Given the description of an element on the screen output the (x, y) to click on. 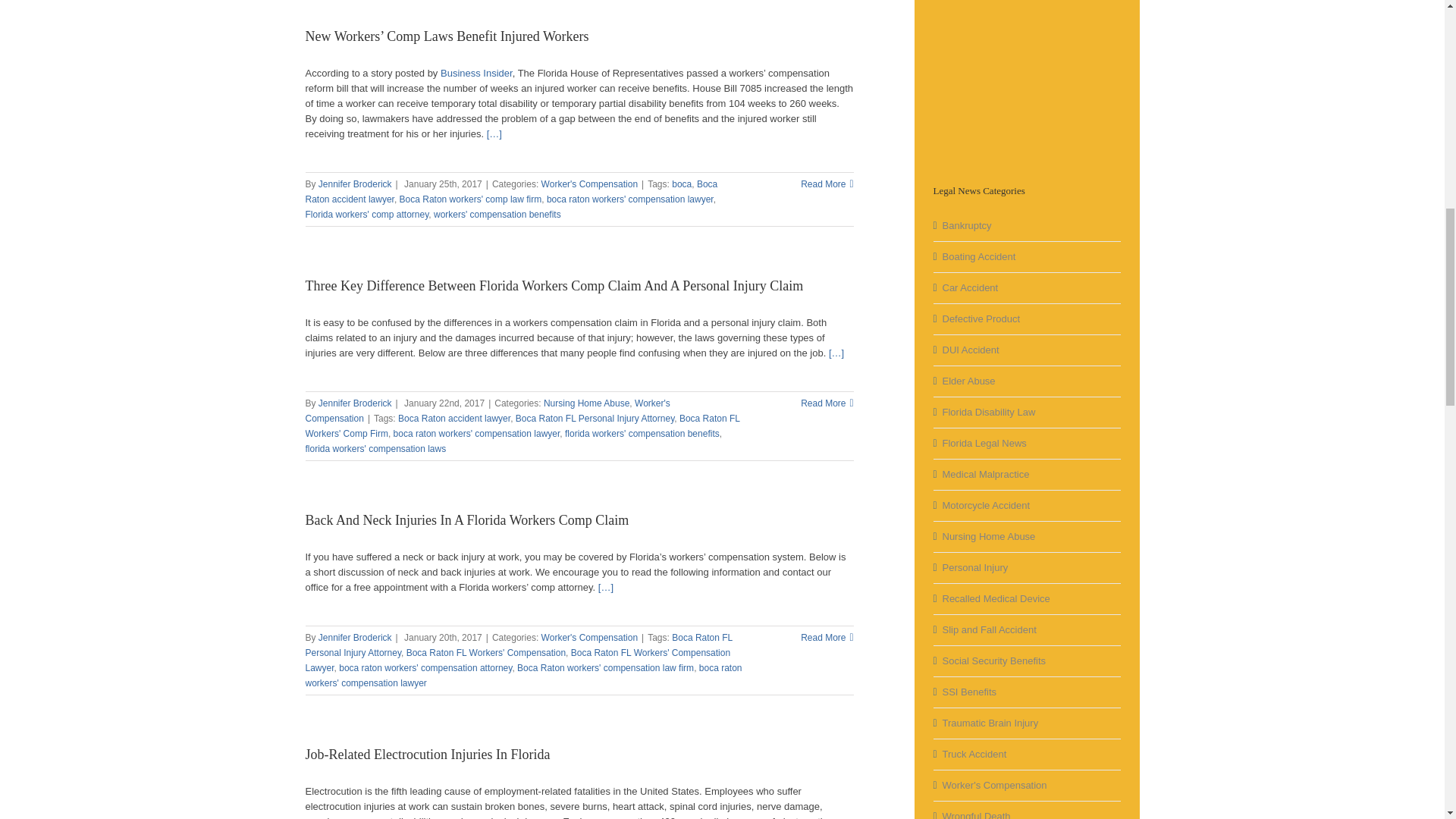
Posts by Jennifer Broderick (354, 184)
Posts by Jennifer Broderick (354, 403)
Posts by Jennifer Broderick (354, 637)
